Given the description of an element on the screen output the (x, y) to click on. 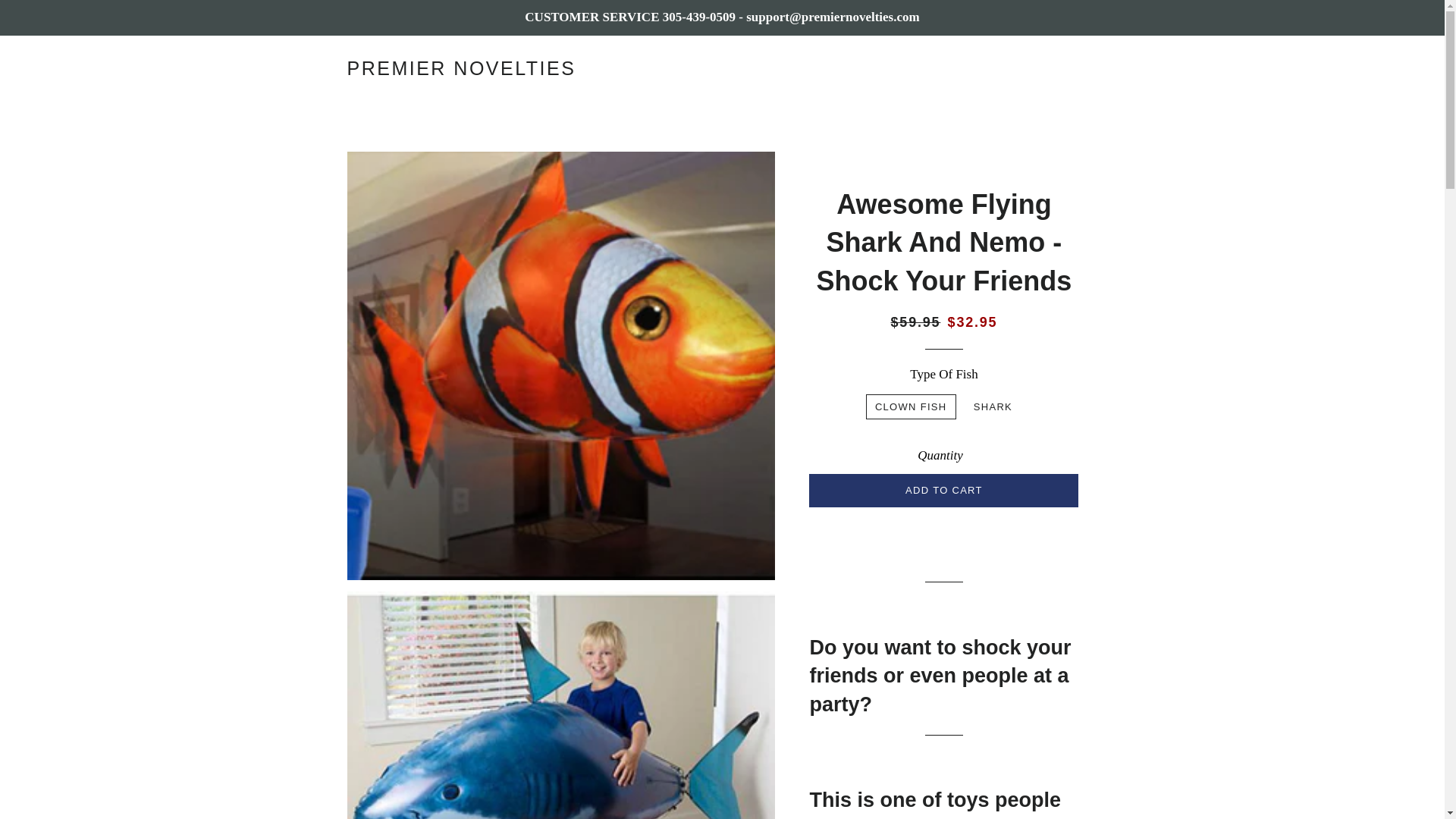
PREMIER NOVELTIES (461, 68)
ADD TO CART (943, 490)
